Given the description of an element on the screen output the (x, y) to click on. 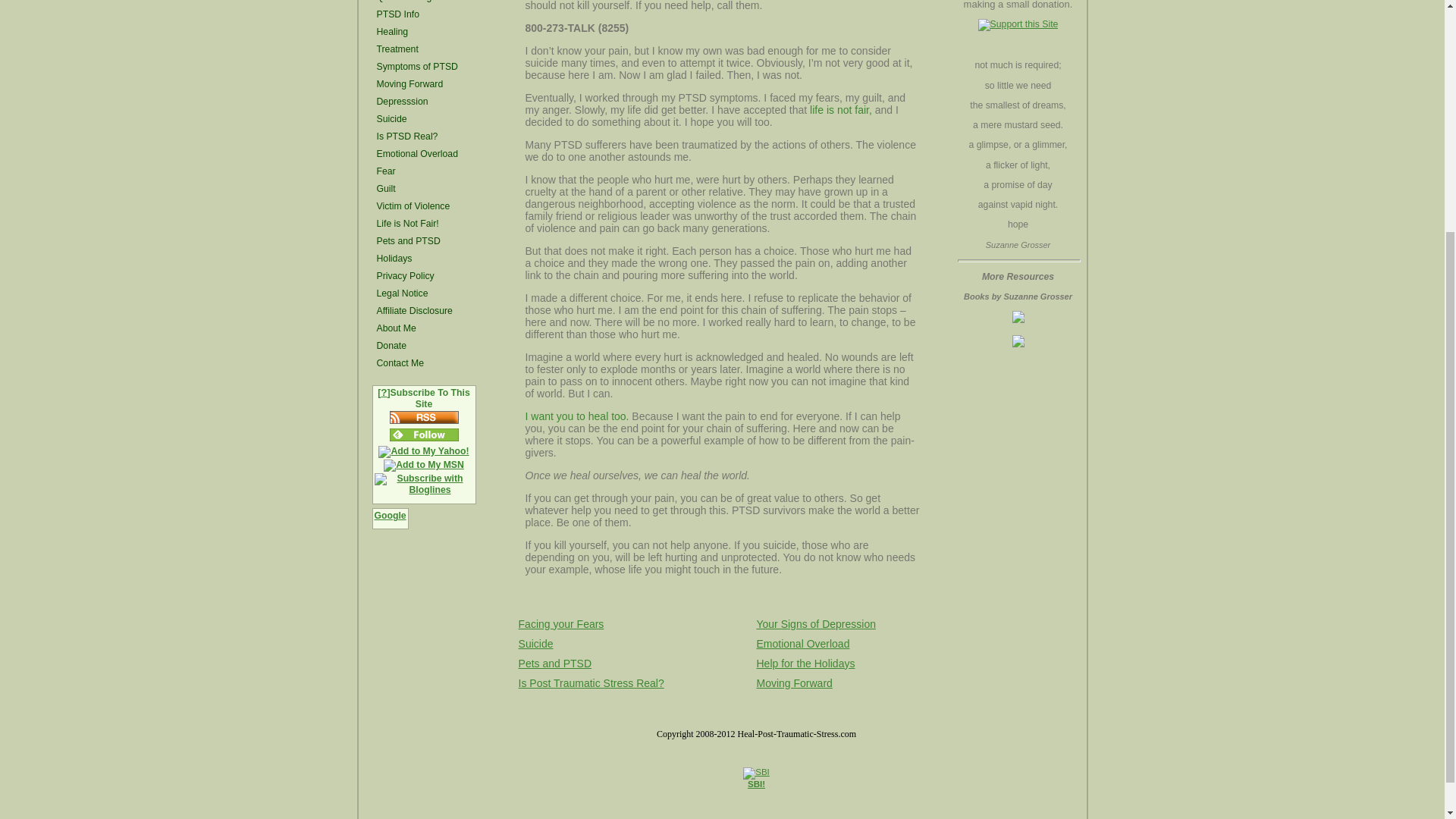
Guilt (424, 188)
Moving Forward (424, 83)
Is PTSD Real? (424, 136)
Healing (424, 31)
Contact Me (424, 363)
Privacy Policy (424, 275)
Quiet Courage (424, 2)
Fear (424, 171)
Google (389, 518)
Pets and PTSD (424, 240)
